Given the description of an element on the screen output the (x, y) to click on. 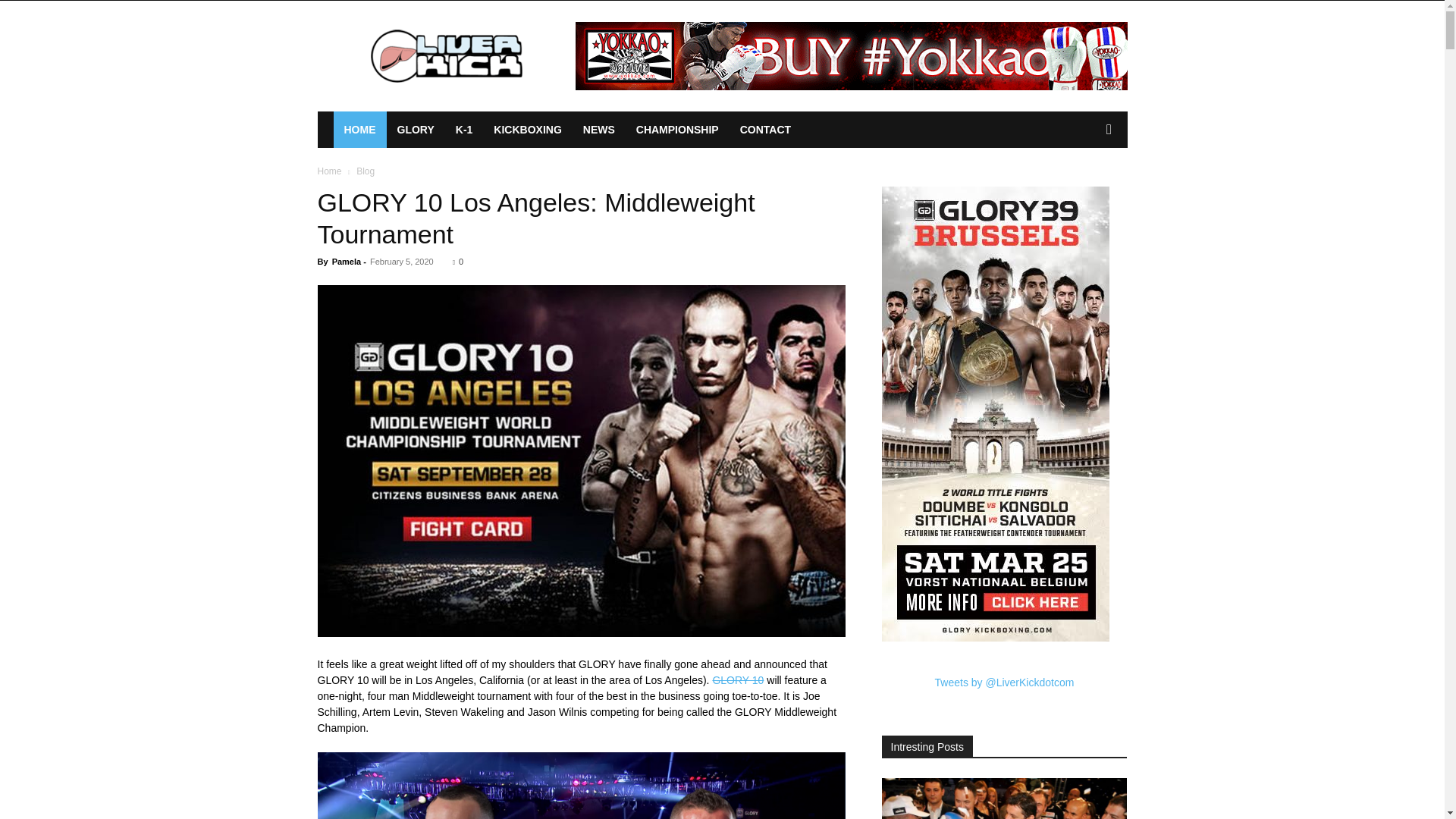
CONTACT (765, 129)
Home (328, 171)
KICKBOXING (527, 129)
GLORY 10 Los Angeles: Middleweight Tournament (535, 218)
HOME (360, 129)
GLORY 10 (736, 680)
CHAMPIONSHIP (677, 129)
GLORY 10 Los Angeles: Middleweight Tournament (535, 218)
K-1 (464, 129)
GLORY (416, 129)
0 (457, 261)
NEWS (599, 129)
Pamela (346, 261)
Search (1085, 190)
